Given the description of an element on the screen output the (x, y) to click on. 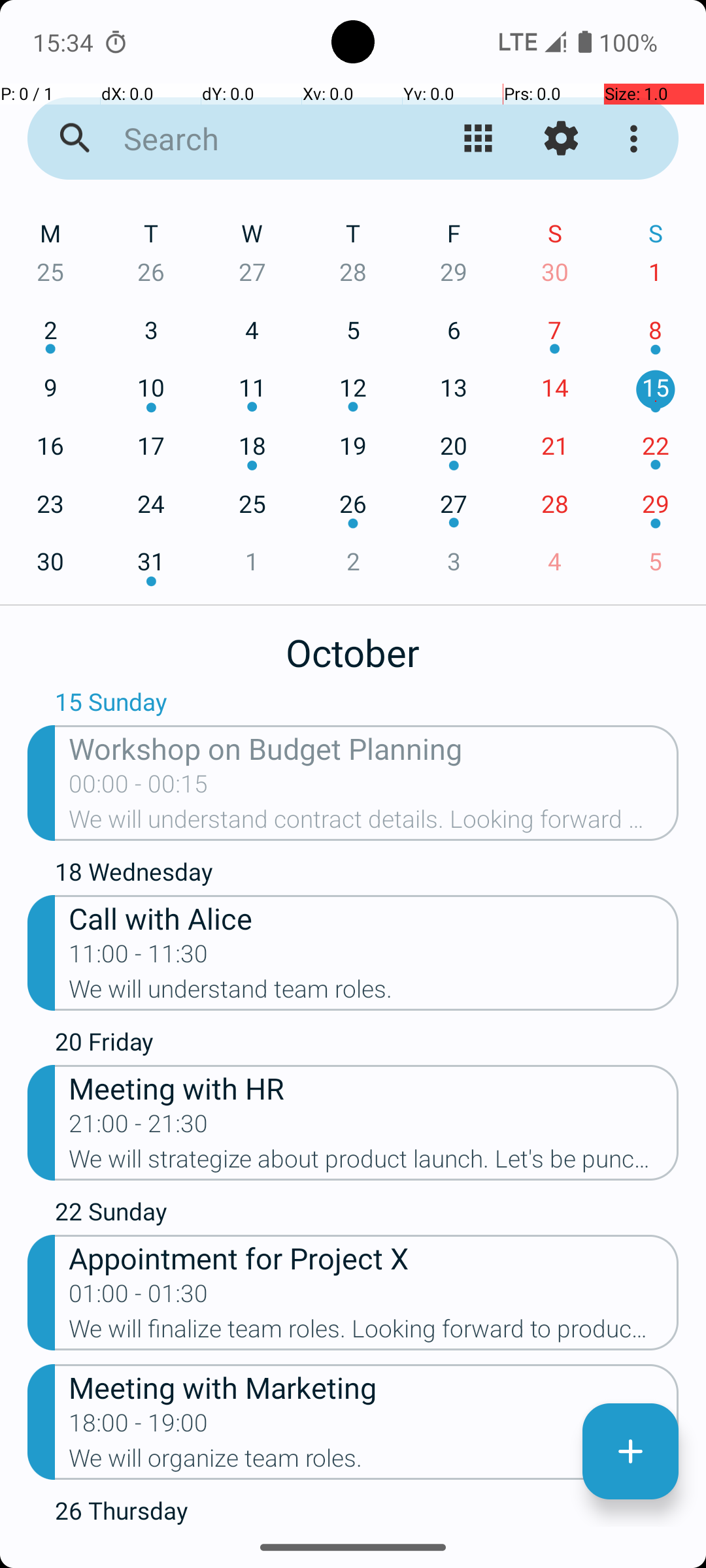
22 Sunday Element type: android.widget.TextView (366, 1214)
26 Thursday Element type: android.widget.TextView (366, 1509)
00:00 - 00:15 Element type: android.widget.TextView (137, 787)
We will understand contract details. Looking forward to productive discussions. Element type: android.widget.TextView (373, 822)
11:00 - 11:30 Element type: android.widget.TextView (137, 957)
We will understand team roles. Element type: android.widget.TextView (373, 992)
21:00 - 21:30 Element type: android.widget.TextView (137, 1127)
We will strategize about product launch. Let's be punctual. Element type: android.widget.TextView (373, 1162)
01:00 - 01:30 Element type: android.widget.TextView (137, 1297)
We will finalize team roles. Looking forward to productive discussions. Element type: android.widget.TextView (373, 1332)
18:00 - 19:00 Element type: android.widget.TextView (137, 1426)
We will organize team roles. Element type: android.widget.TextView (373, 1461)
